Given the description of an element on the screen output the (x, y) to click on. 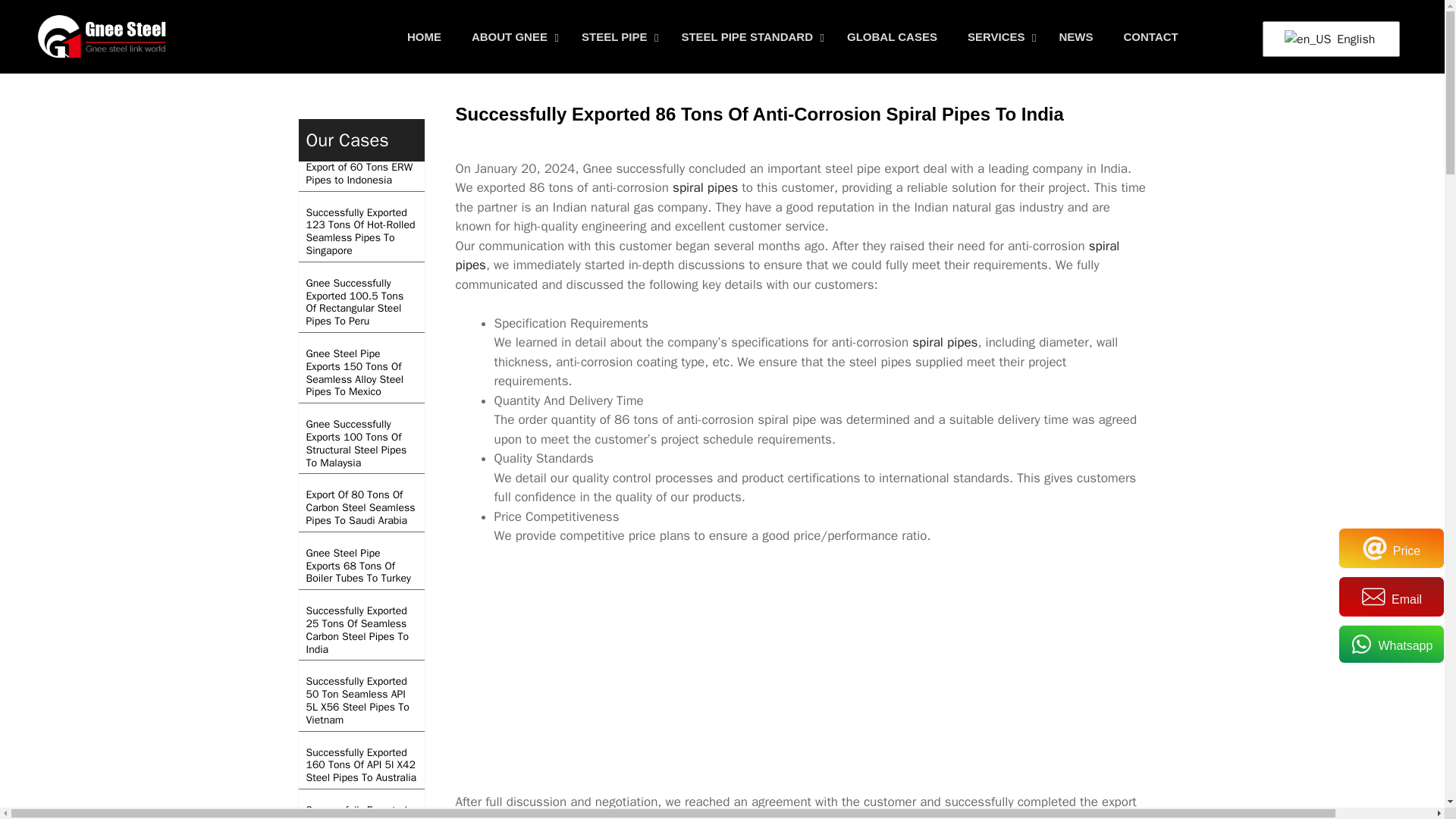
English (1328, 38)
ABOUT GNEE (511, 37)
English (1307, 39)
HOME (424, 37)
STEEL PIPE (615, 37)
